Given the description of an element on the screen output the (x, y) to click on. 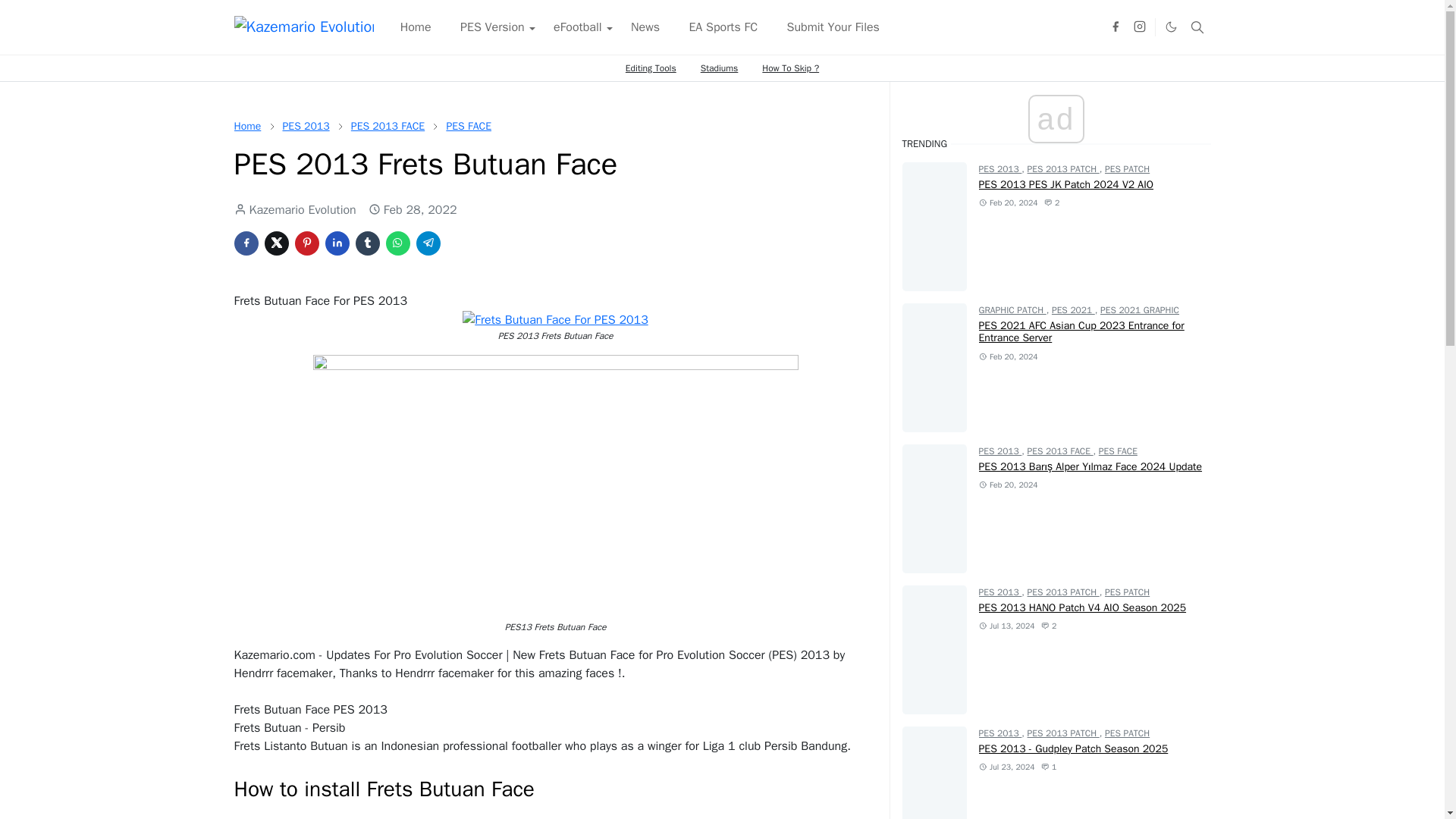
PES 2013 Frets Butuan Face (555, 320)
Tumblr Share (366, 242)
Home (246, 125)
Stadiums (719, 68)
Submit Your Files (832, 27)
EA Sports FC (722, 27)
How To Skip ? (790, 68)
Pin It (306, 242)
PES 2013 FACE (387, 125)
Share to telegram (426, 242)
